Given the description of an element on the screen output the (x, y) to click on. 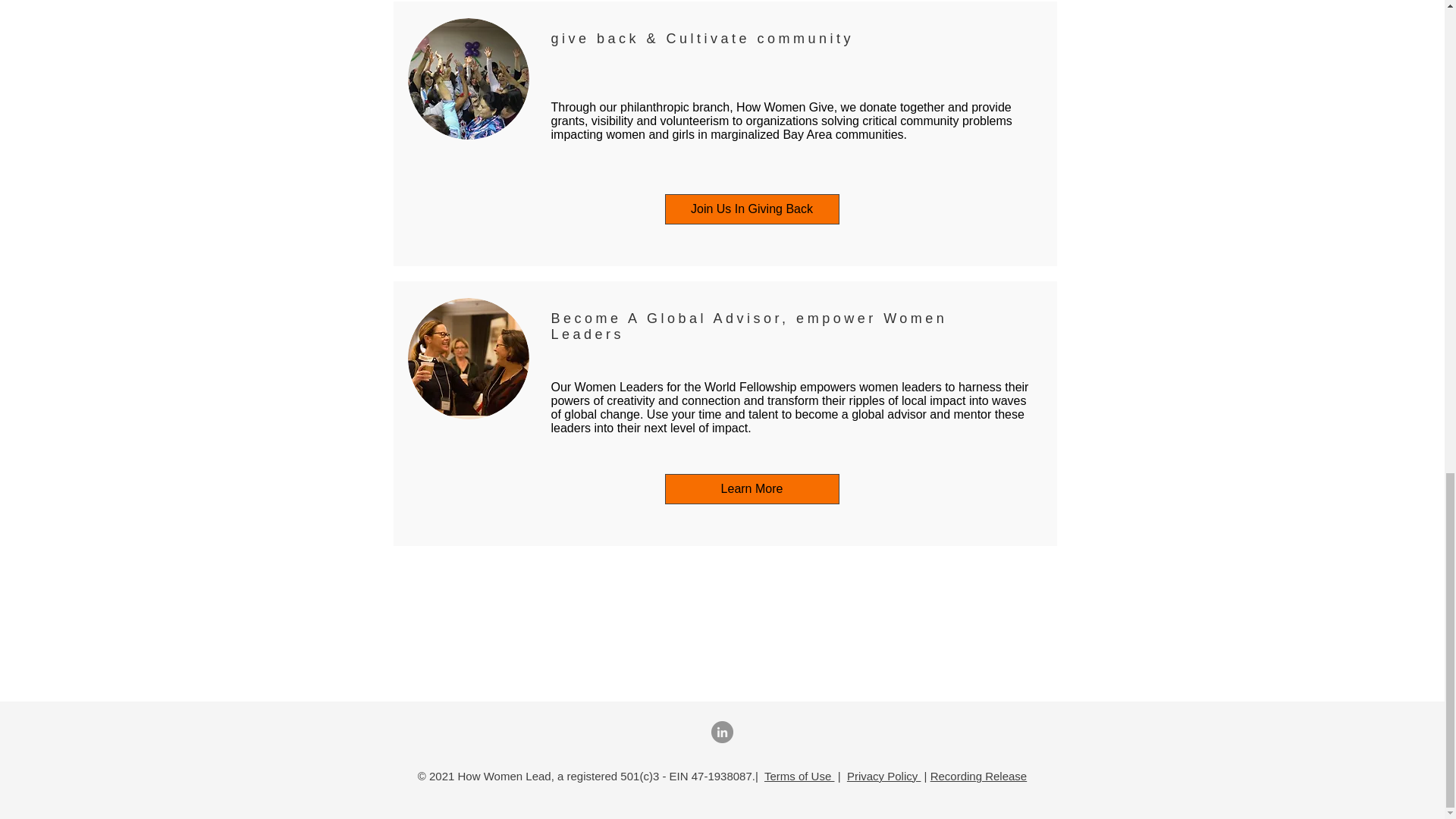
Join Us In Giving Back (750, 209)
Terms of Use  (799, 777)
Learn More (750, 489)
Privacy Policy  (884, 777)
Recording Release (978, 777)
